Given the description of an element on the screen output the (x, y) to click on. 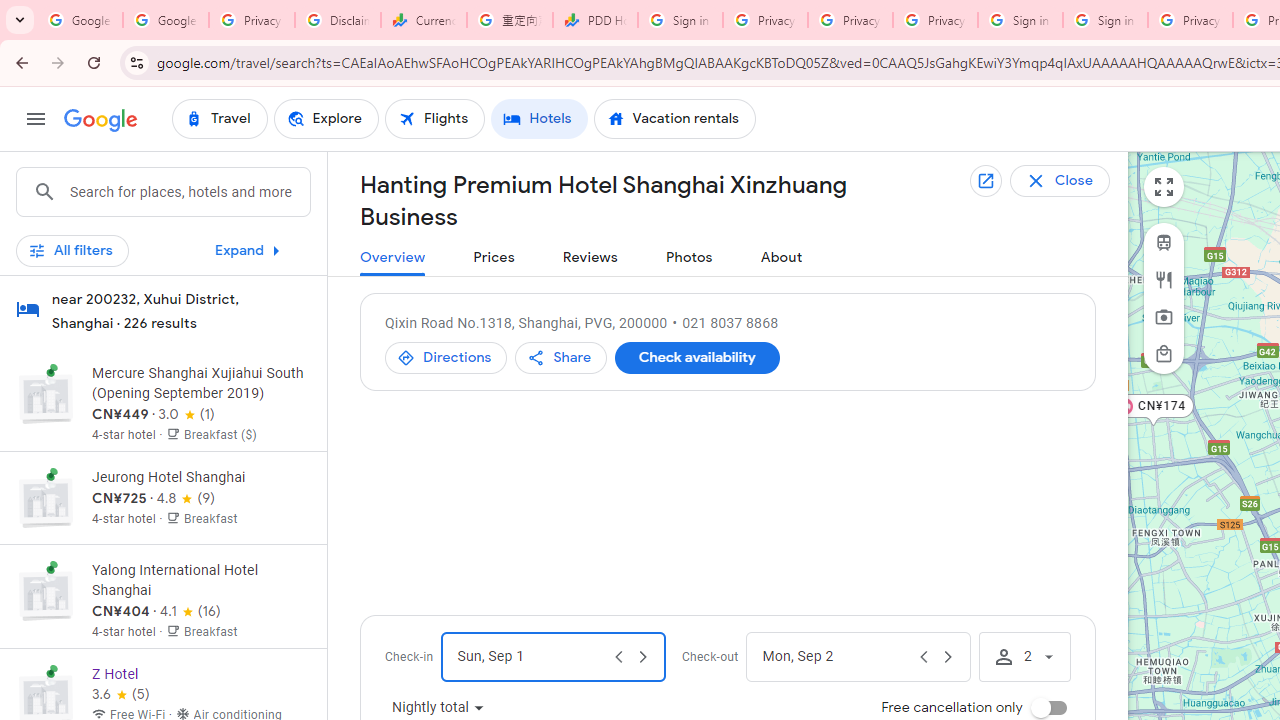
Photos (688, 258)
Sign in - Google Accounts (1105, 20)
All filters (72, 250)
Back to list of all results (1075, 180)
Open in new tab (985, 180)
Directions (446, 358)
Main menu (35, 119)
Hotels (539, 118)
Vacation rentals (674, 118)
Share (561, 357)
Areas for shopping (1163, 353)
Sign in - Google Accounts (1020, 20)
